Given the description of an element on the screen output the (x, y) to click on. 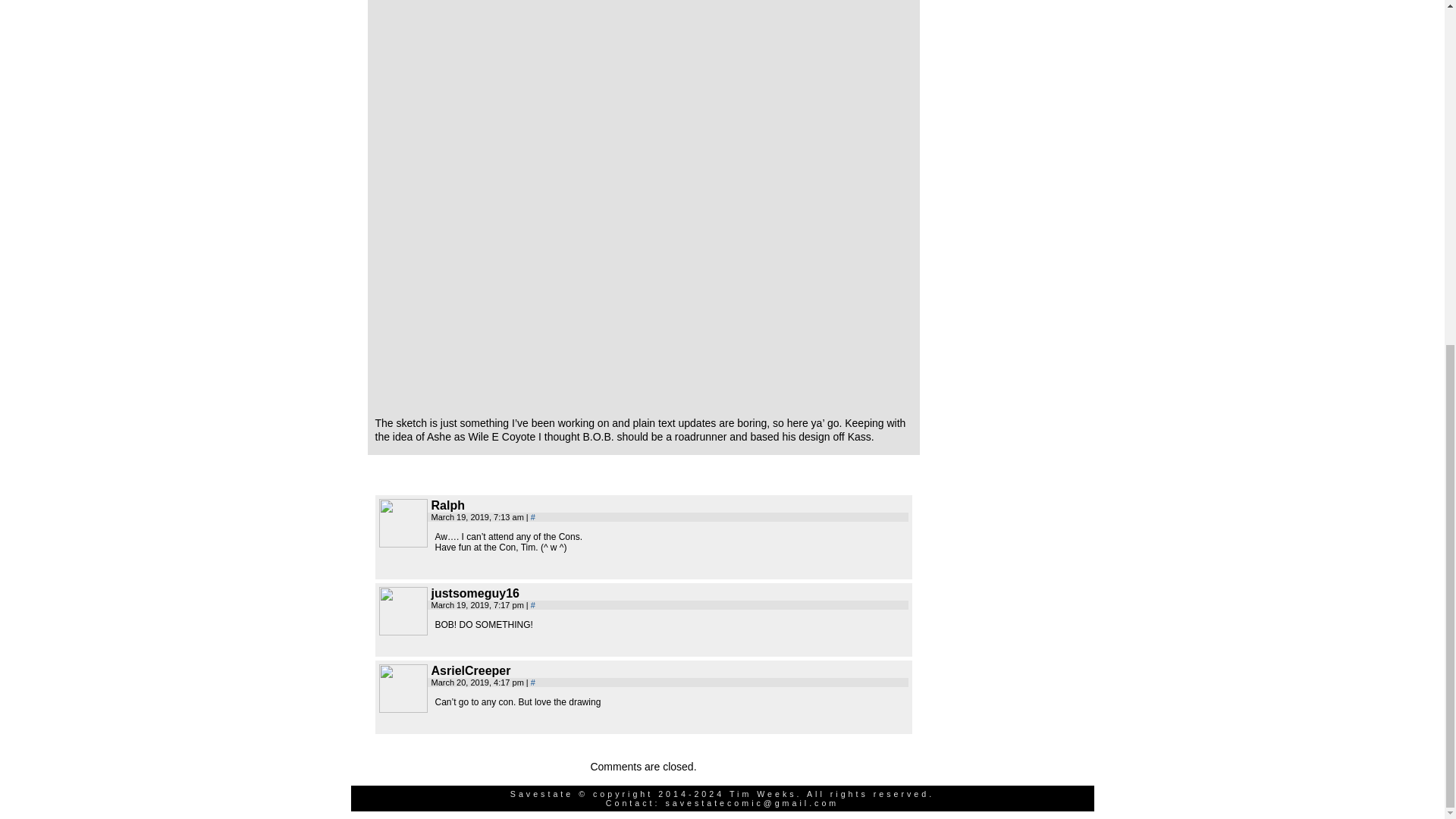
Ralph (403, 522)
AsrielCreeper (403, 688)
justsomeguy16 (403, 611)
Tuesday, March 19th 2019, 7:13am (477, 516)
Wednesday, March 20th 2019, 4:17pm (477, 682)
Tuesday, March 19th 2019, 7:17pm (477, 604)
